Given the description of an element on the screen output the (x, y) to click on. 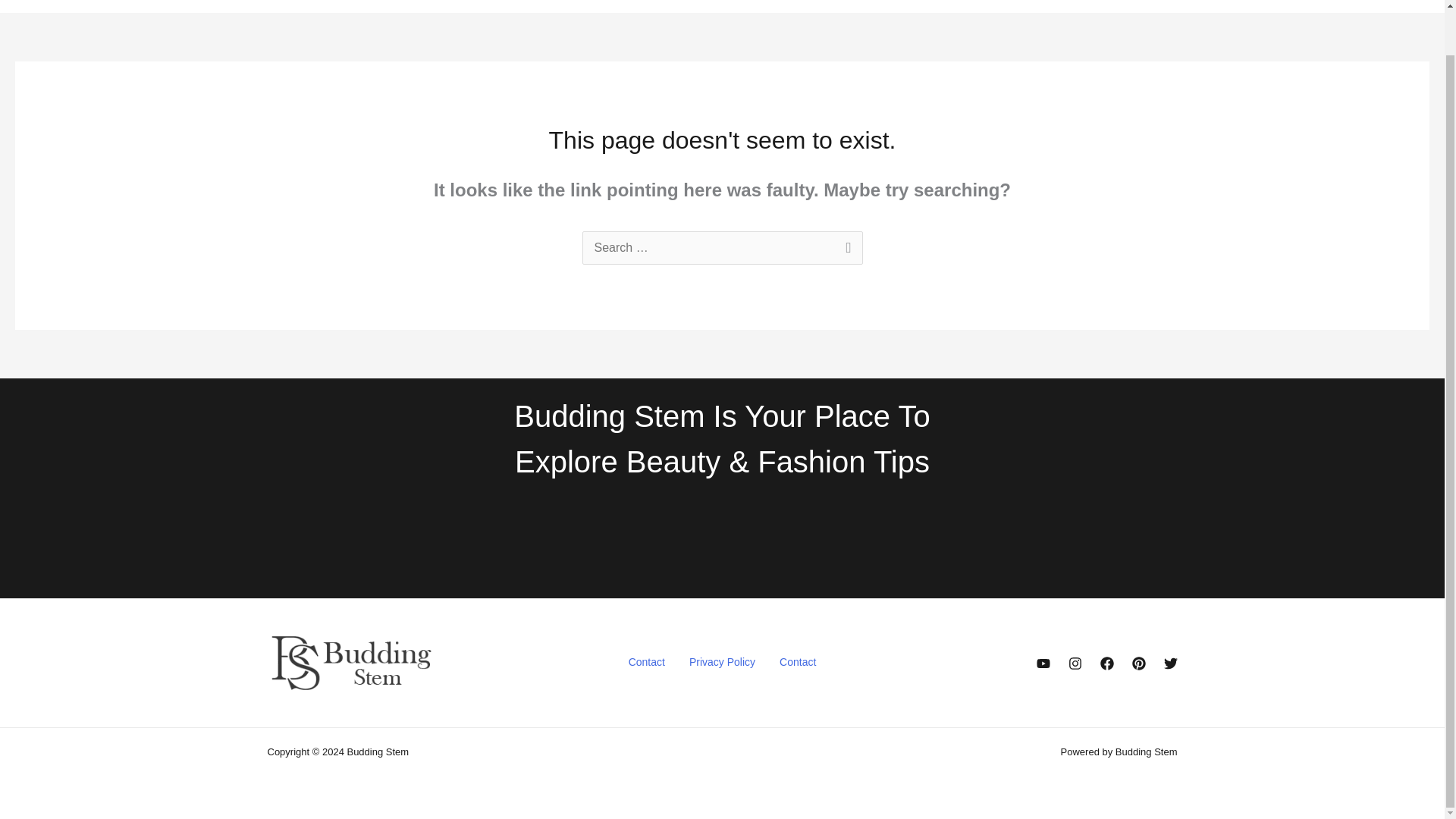
Search (844, 248)
Contact (646, 662)
Contact (797, 662)
Privacy Policy (722, 662)
Search (844, 248)
Search (844, 248)
